Given the description of an element on the screen output the (x, y) to click on. 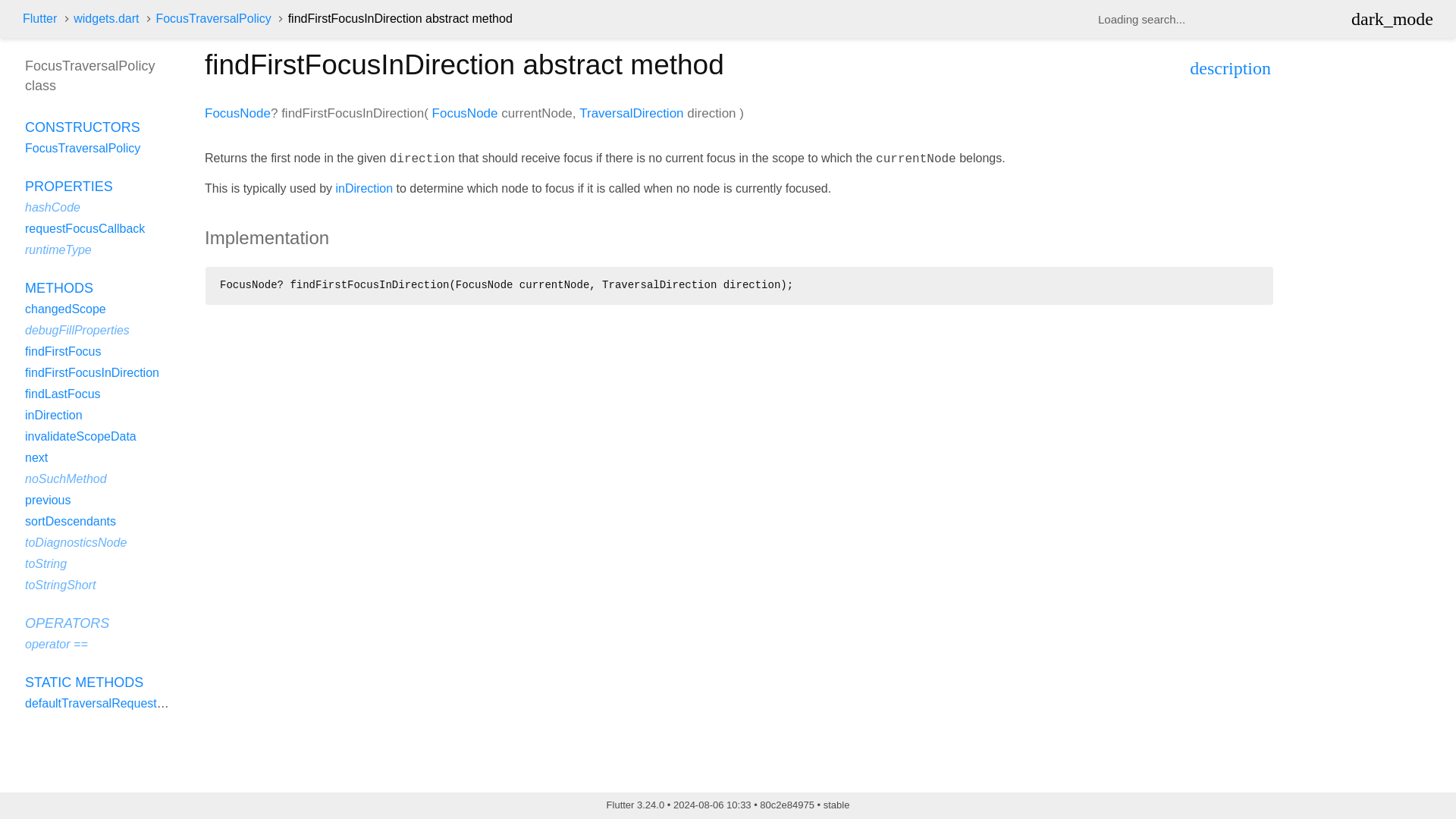
findLastFocus (62, 393)
FocusTraversalPolicy (81, 147)
next (36, 457)
FocusNode (464, 113)
toDiagnosticsNode (75, 542)
debugFillProperties (76, 329)
requestFocusCallback (84, 228)
PROPERTIES (68, 186)
View source code (1230, 69)
METHODS (58, 287)
